Given the description of an element on the screen output the (x, y) to click on. 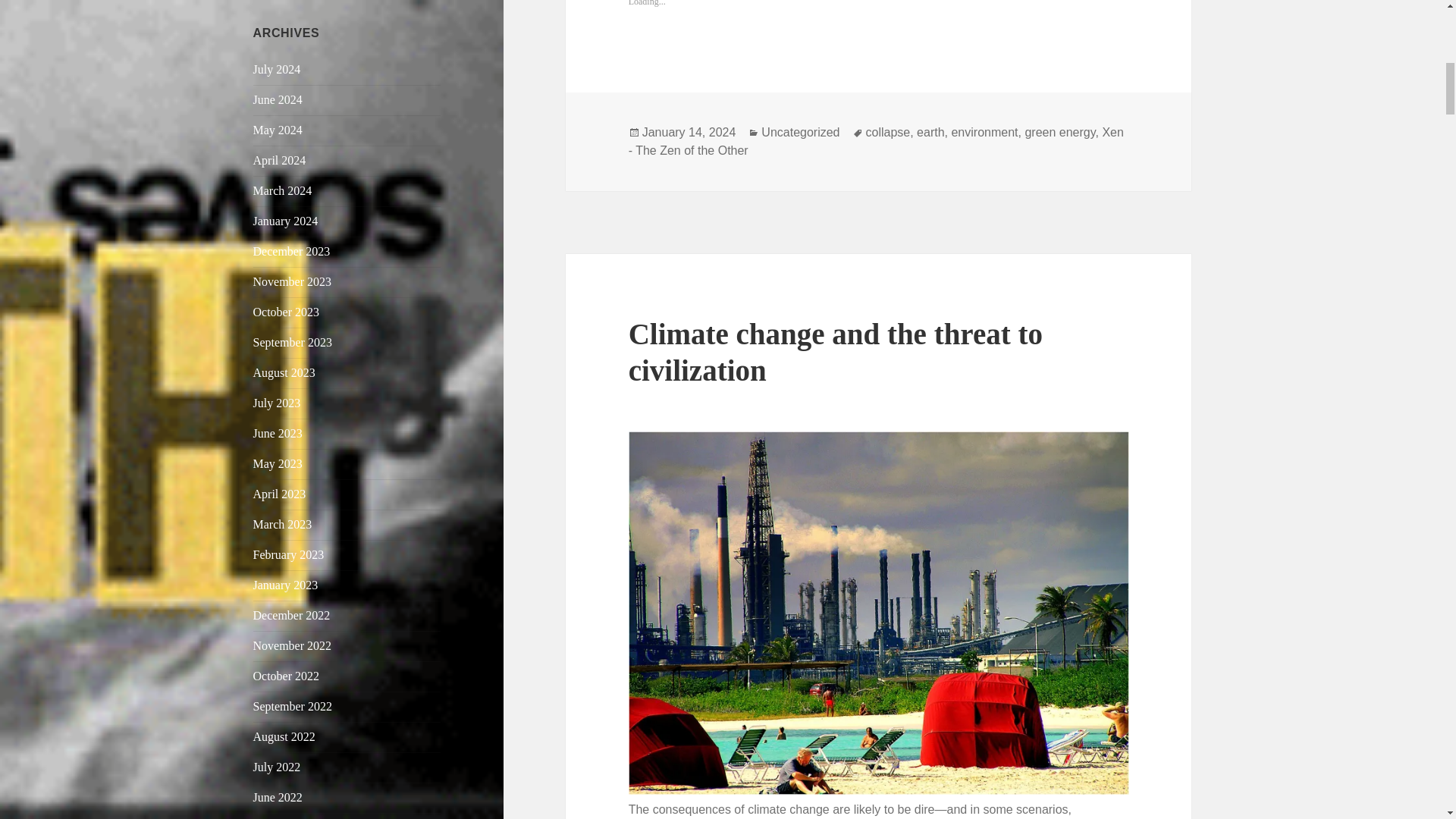
June 2024 (277, 99)
March 2023 (283, 523)
June 2023 (277, 432)
March 2024 (283, 190)
July 2024 (277, 69)
December 2023 (291, 250)
May 2023 (277, 463)
April 2023 (279, 493)
October 2023 (286, 311)
June 2022 (277, 797)
February 2023 (288, 554)
August 2023 (284, 372)
August 2022 (284, 736)
July 2023 (277, 402)
September 2022 (292, 706)
